Given the description of an element on the screen output the (x, y) to click on. 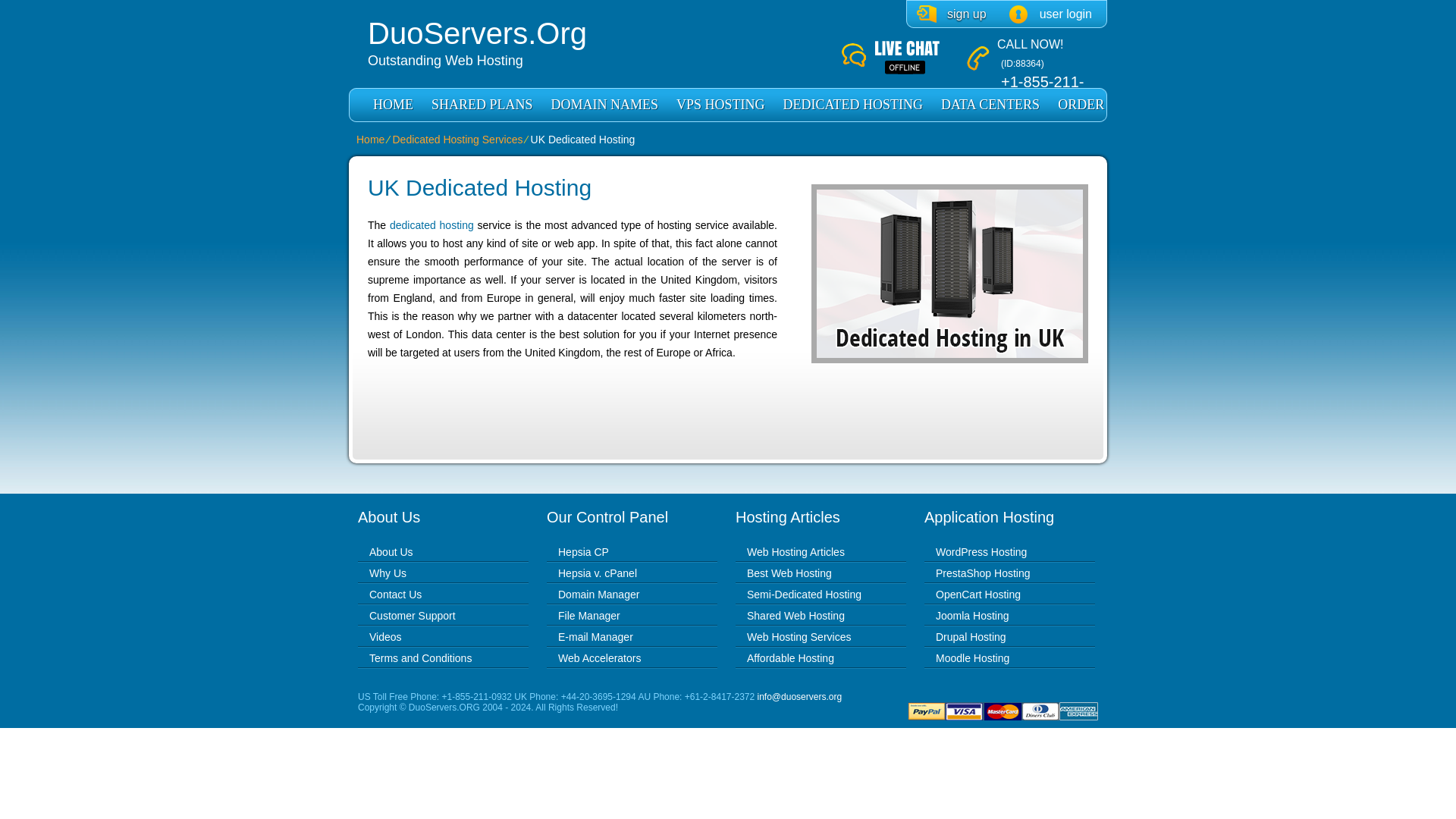
DuoServers.Org (604, 33)
VPS HOSTING (720, 104)
Customer Support (412, 615)
Why Us (387, 573)
ORDER (1080, 104)
user login (1050, 13)
client login (1050, 13)
DEDICATED HOSTING (852, 104)
Hepsia v. cPanel (597, 573)
dedicated hosting (432, 224)
DATA CENTERS (989, 104)
sign up (952, 13)
Hepsia CP (582, 551)
About Us (391, 551)
SHARED PLANS (481, 104)
